Given the description of an element on the screen output the (x, y) to click on. 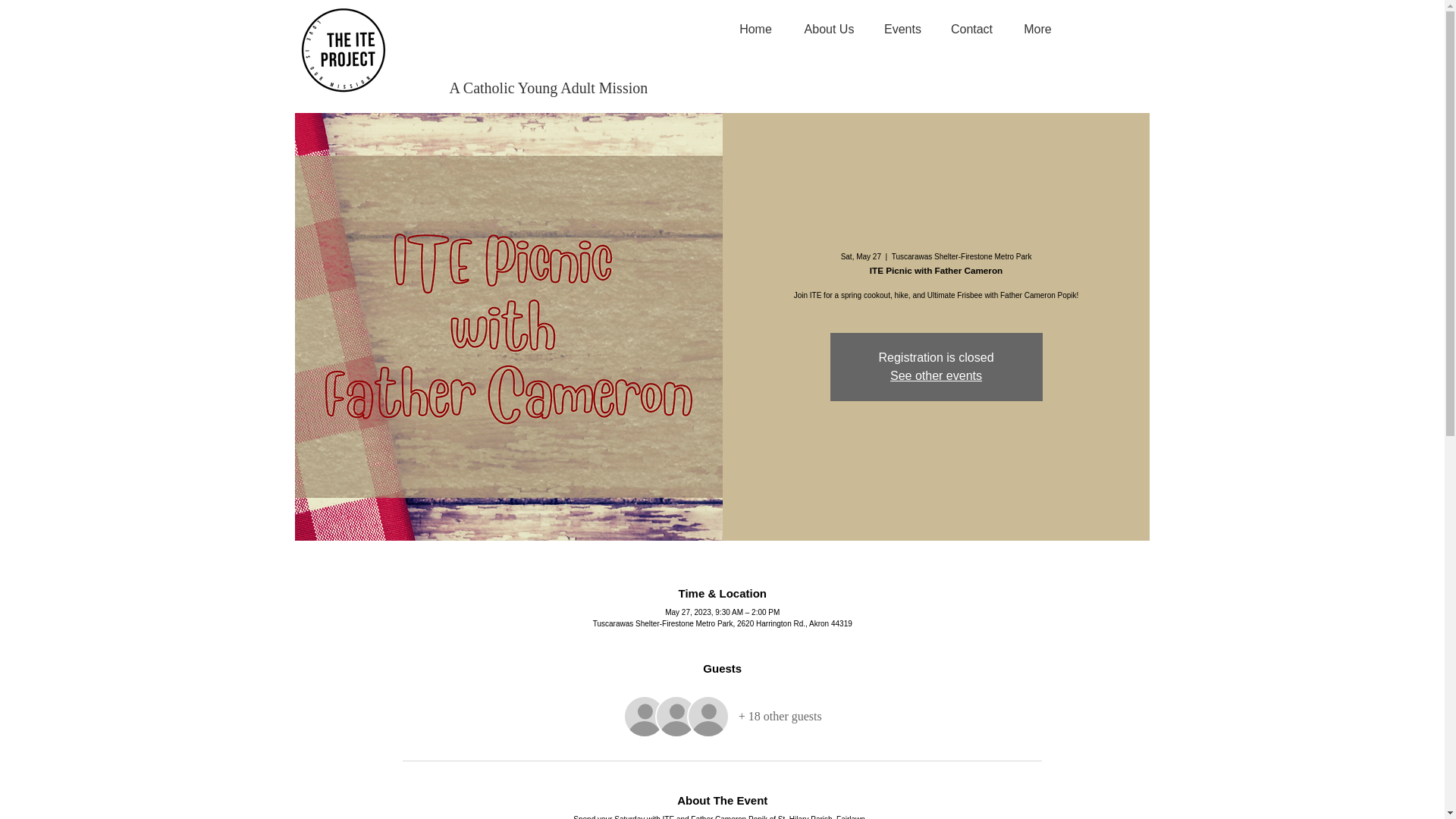
Contact (972, 29)
Home (756, 29)
Events (903, 29)
About Us (829, 29)
The ITE Project Circle 2 copy-3.png (342, 50)
See other events (935, 375)
